Given the description of an element on the screen output the (x, y) to click on. 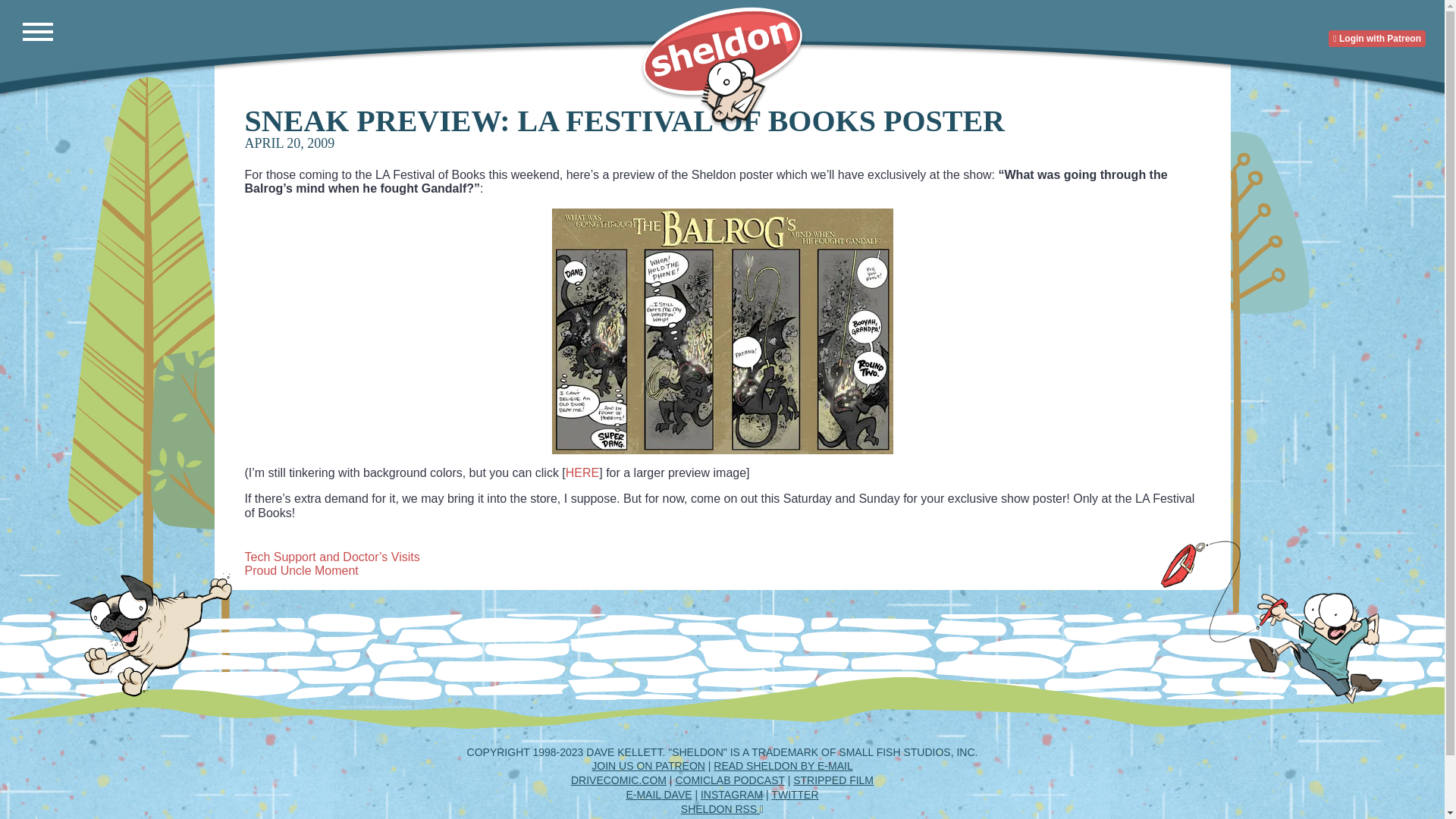
READ SHELDON BY E-MAIL (782, 766)
Sheldon (722, 66)
TWITTER (794, 794)
Drive (618, 779)
E-MAIL DAVE (658, 794)
HERE (582, 472)
JOIN US ON PATREON (647, 766)
Proud Uncle Moment (301, 570)
LEETOO (764, 818)
SHELDON RSS (721, 808)
STRIPPED FILM (833, 779)
Read Sheldon by e-mail (782, 766)
INSTAGRAM (731, 794)
Join us on Patreon (647, 766)
DRIVECOMIC.COM (618, 779)
